Given the description of an element on the screen output the (x, y) to click on. 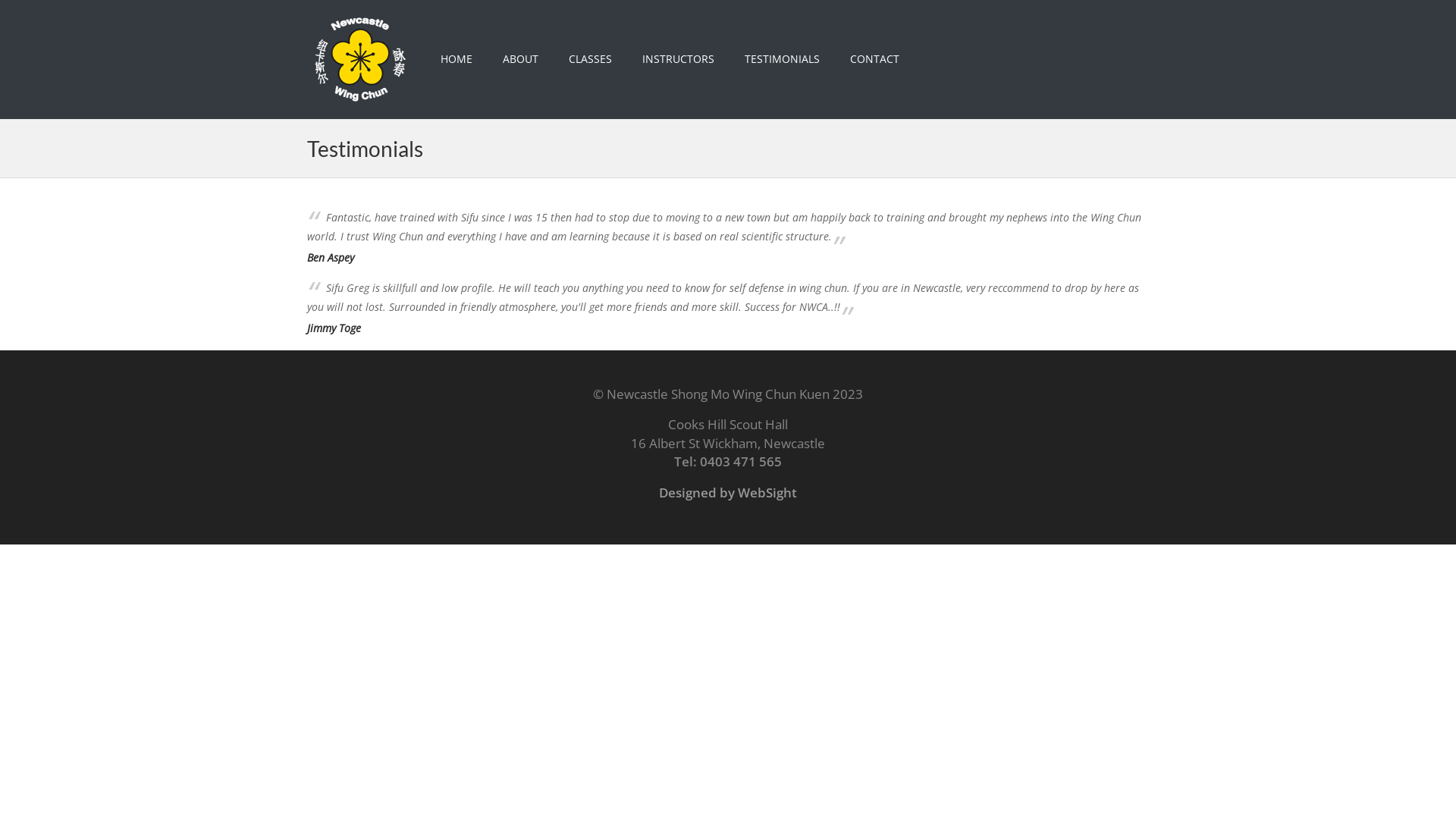
CLASSES Element type: text (590, 59)
INSTRUCTORS Element type: text (678, 59)
Designed by WebSight Element type: text (727, 492)
CONTACT Element type: text (874, 59)
Newcastle Wing Chun Kung Fu Academy Element type: hover (359, 59)
HOME Element type: text (456, 59)
ABOUT Element type: text (520, 59)
TESTIMONIALS Element type: text (781, 59)
